Given the description of an element on the screen output the (x, y) to click on. 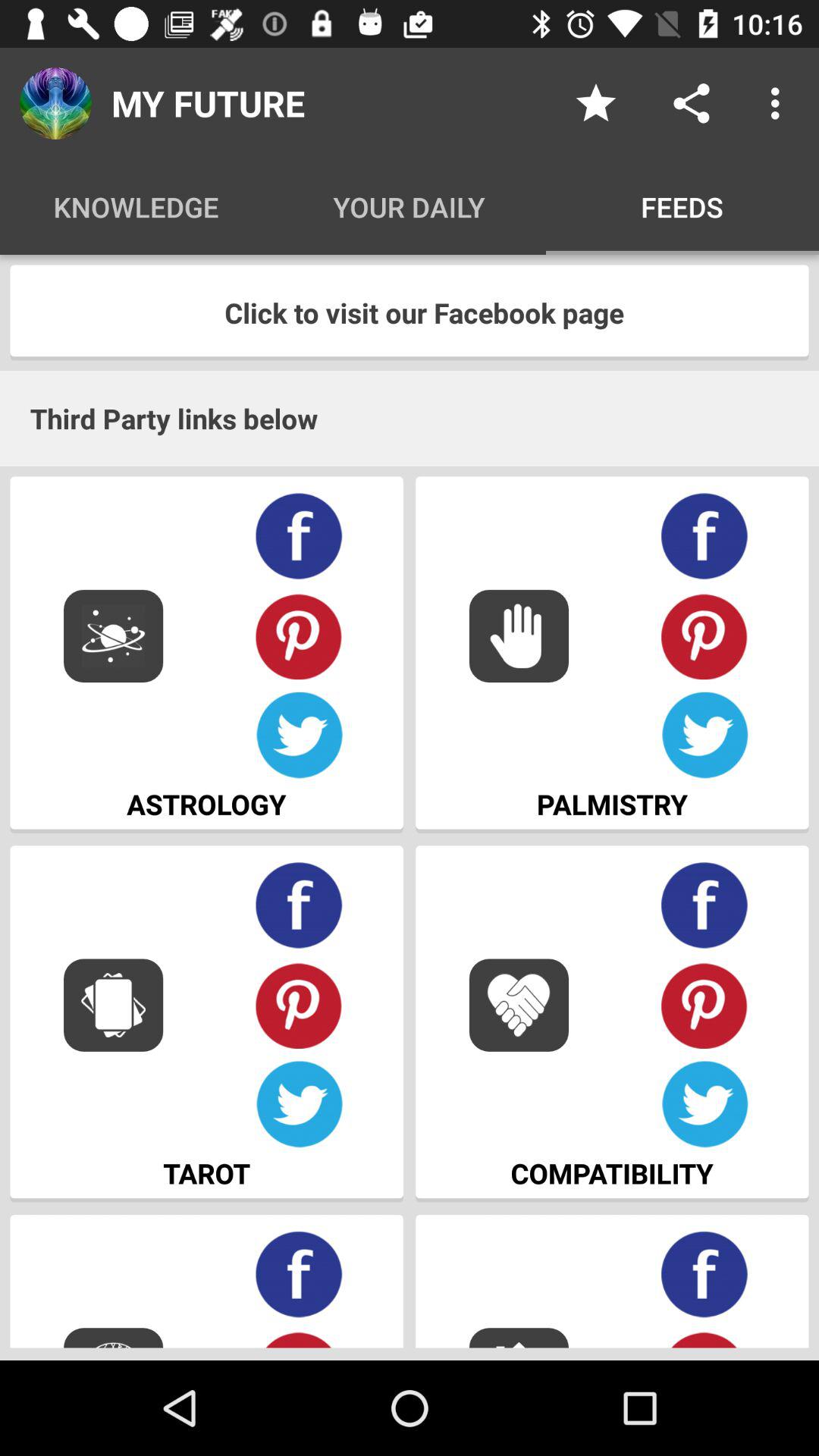
share in facebook (704, 536)
